Given the description of an element on the screen output the (x, y) to click on. 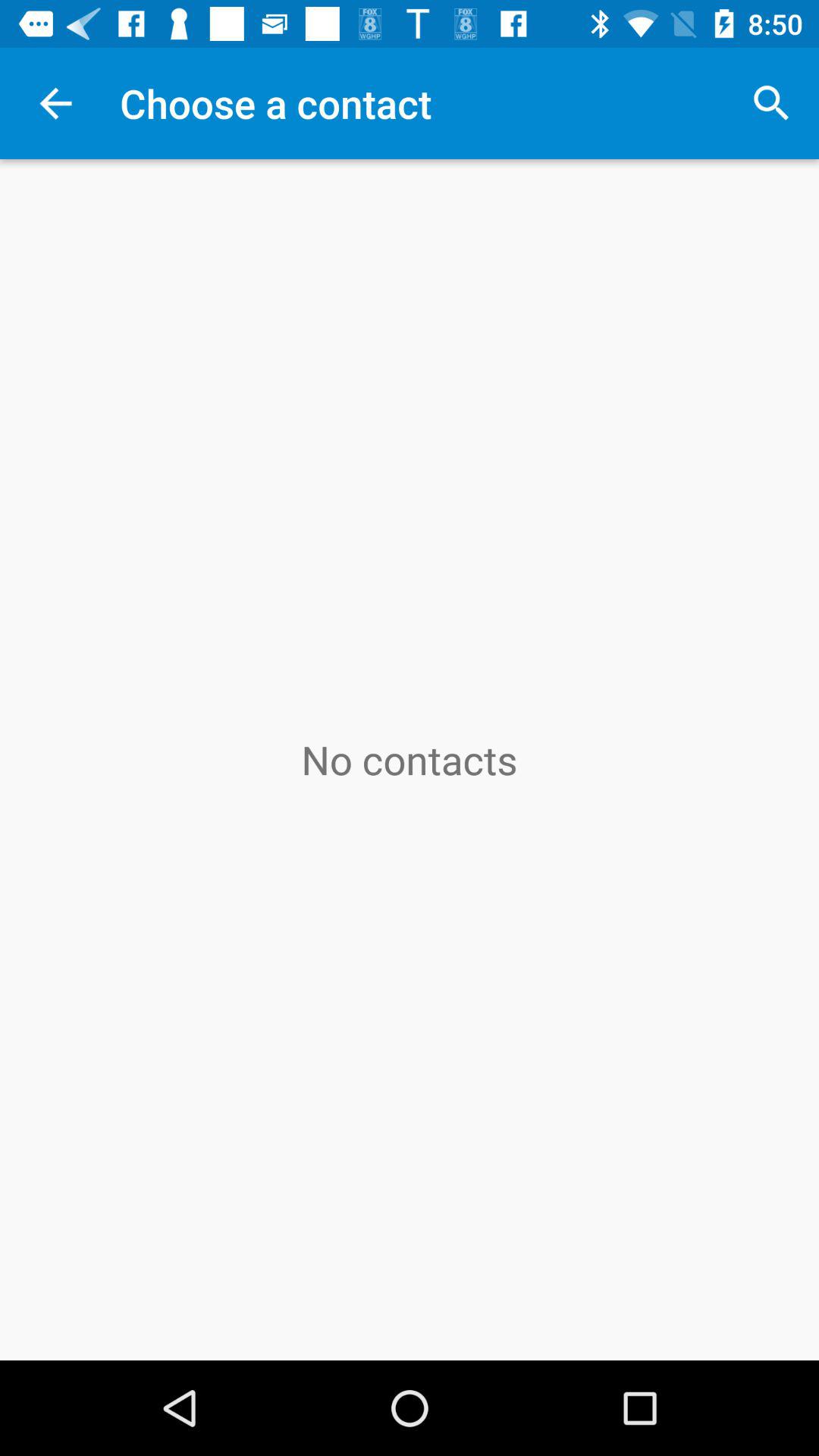
choose icon next to choose a contact icon (771, 103)
